Given the description of an element on the screen output the (x, y) to click on. 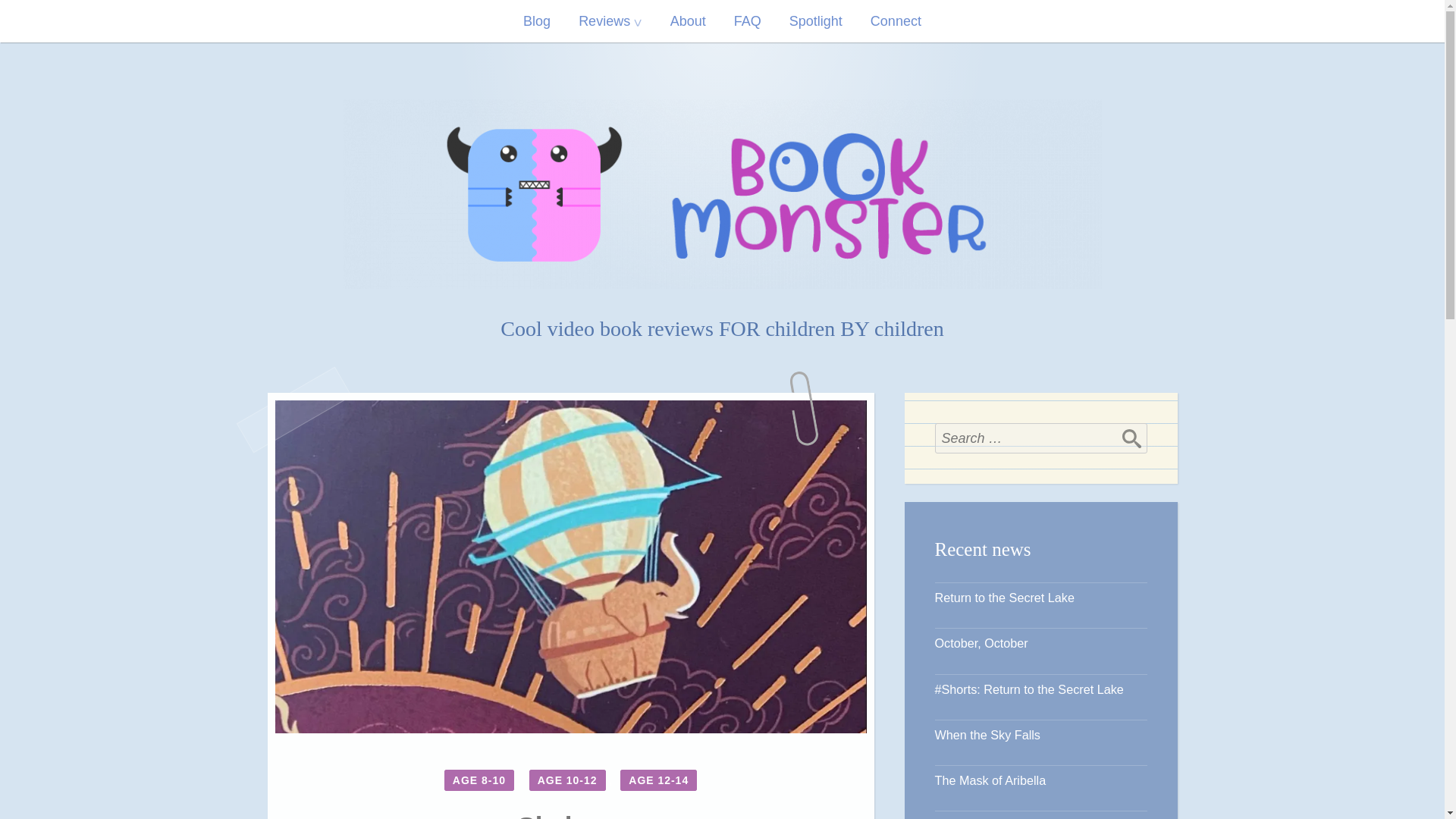
When the Sky Falls (986, 735)
Search (1131, 438)
Return to the Secret Lake (1004, 597)
Blog (536, 21)
AGE 12-14 (658, 780)
FAQ (747, 21)
AGE 10-12 (567, 780)
Reviews (609, 21)
Spotlight (815, 21)
Search (1131, 438)
AGE 8-10 (478, 780)
The Mask of Aribella (989, 780)
October, October (980, 643)
Search (1131, 438)
Connect (896, 21)
